Given the description of an element on the screen output the (x, y) to click on. 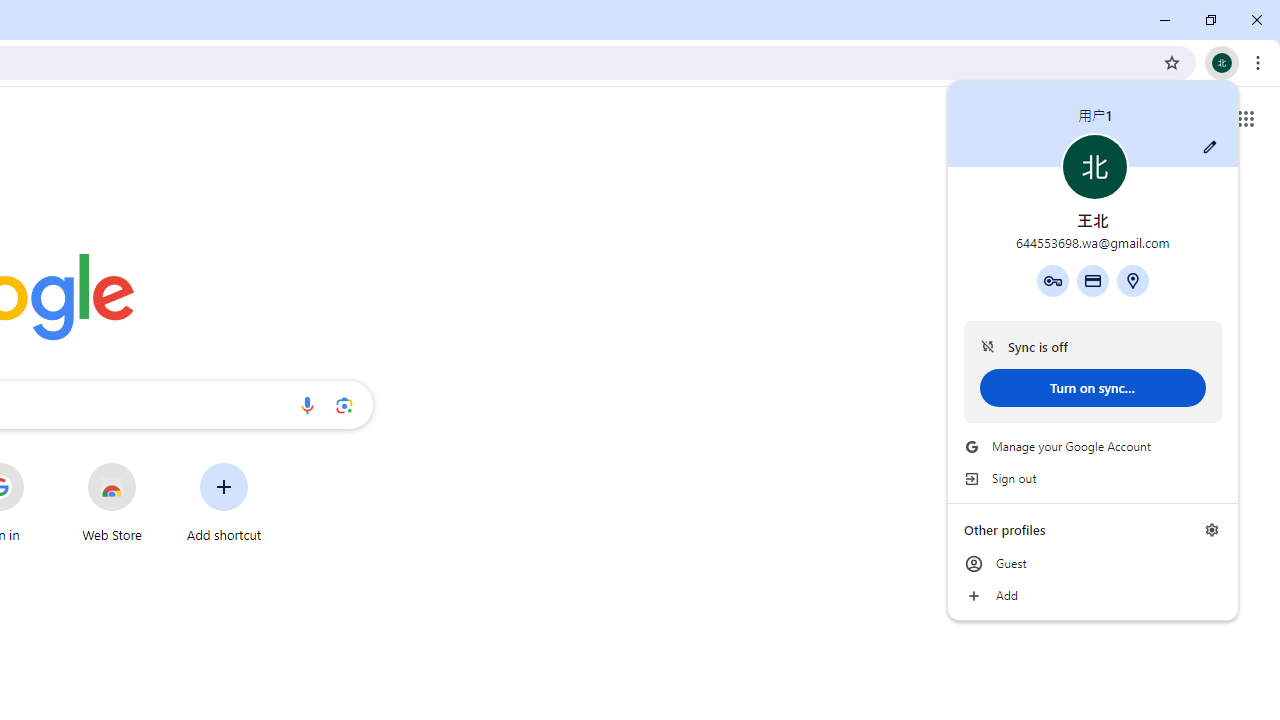
More actions for Web Store shortcut (152, 464)
Google Password Manager (1052, 280)
More actions for Sign in shortcut (39, 464)
Addresses and more (1133, 280)
Add (1092, 596)
